Given the description of an element on the screen output the (x, y) to click on. 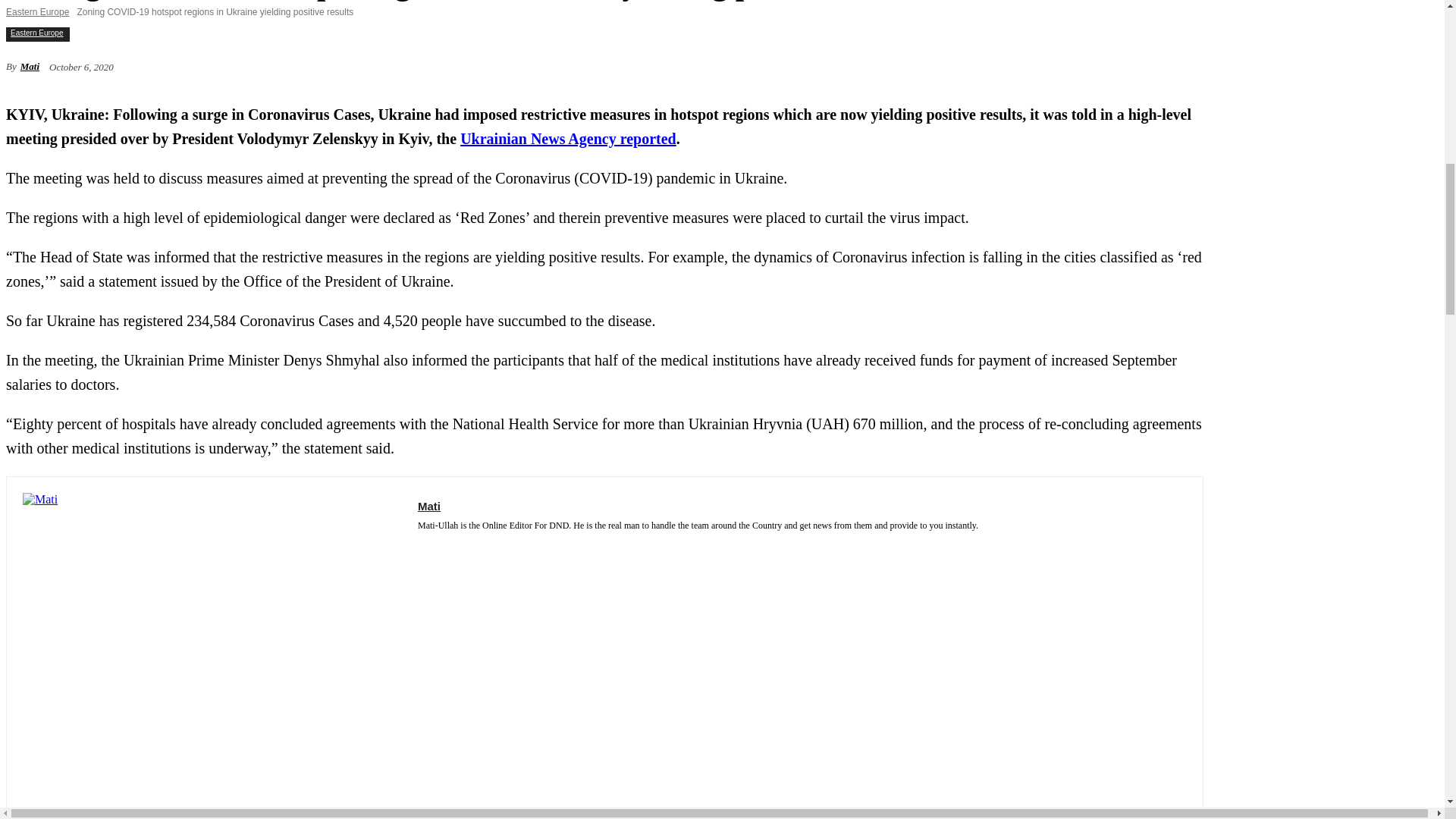
Facebook (423, 545)
Mati (212, 656)
View all posts in Eastern Europe (36, 11)
